Given the description of an element on the screen output the (x, y) to click on. 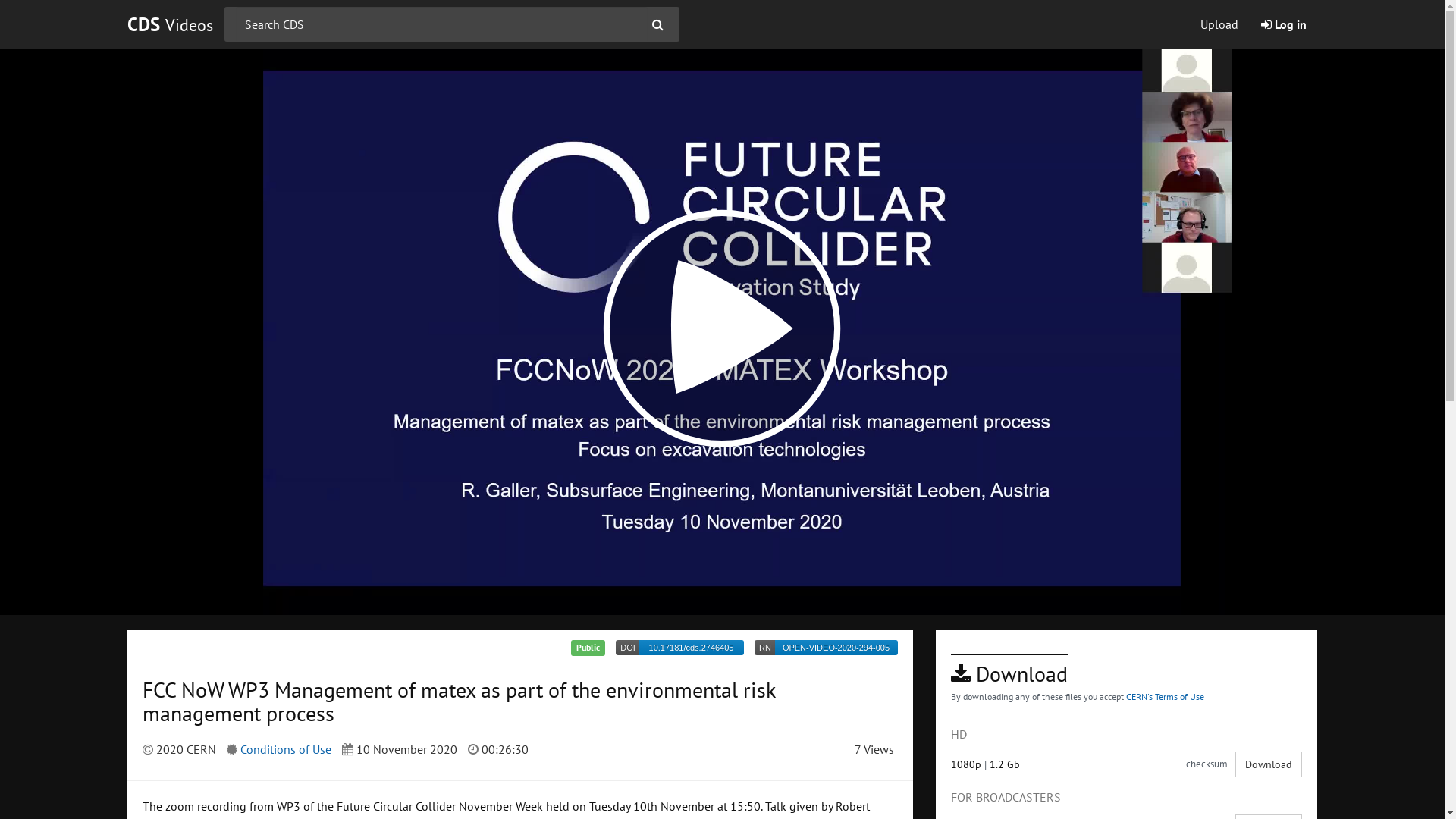
CERN's Terms of Use Element type: text (1165, 696)
Conditions of Use Element type: text (284, 748)
Upload Element type: text (1219, 24)
CDS Videos Element type: text (169, 24)
Download Element type: text (1268, 764)
Log in Element type: text (1283, 24)
checksum Element type: text (1206, 764)
